Given the description of an element on the screen output the (x, y) to click on. 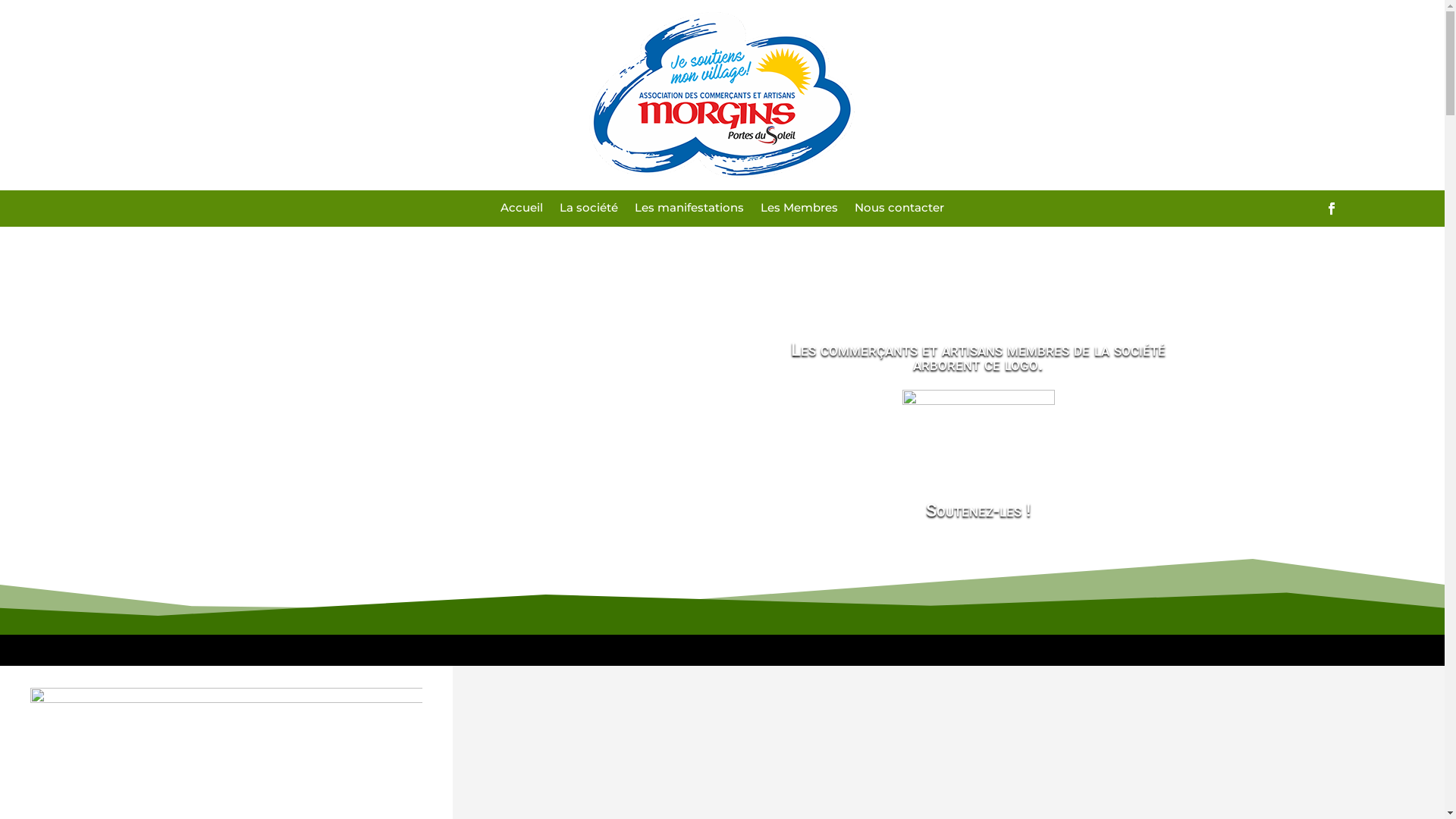
Accueil Element type: text (521, 210)
Nous contacter Element type: text (899, 210)
Les Membres Element type: text (798, 210)
logo ACAM Element type: hover (721, 95)
Suivez sur Facebook Element type: hover (1331, 208)
Les manifestations Element type: text (688, 210)
